Given the description of an element on the screen output the (x, y) to click on. 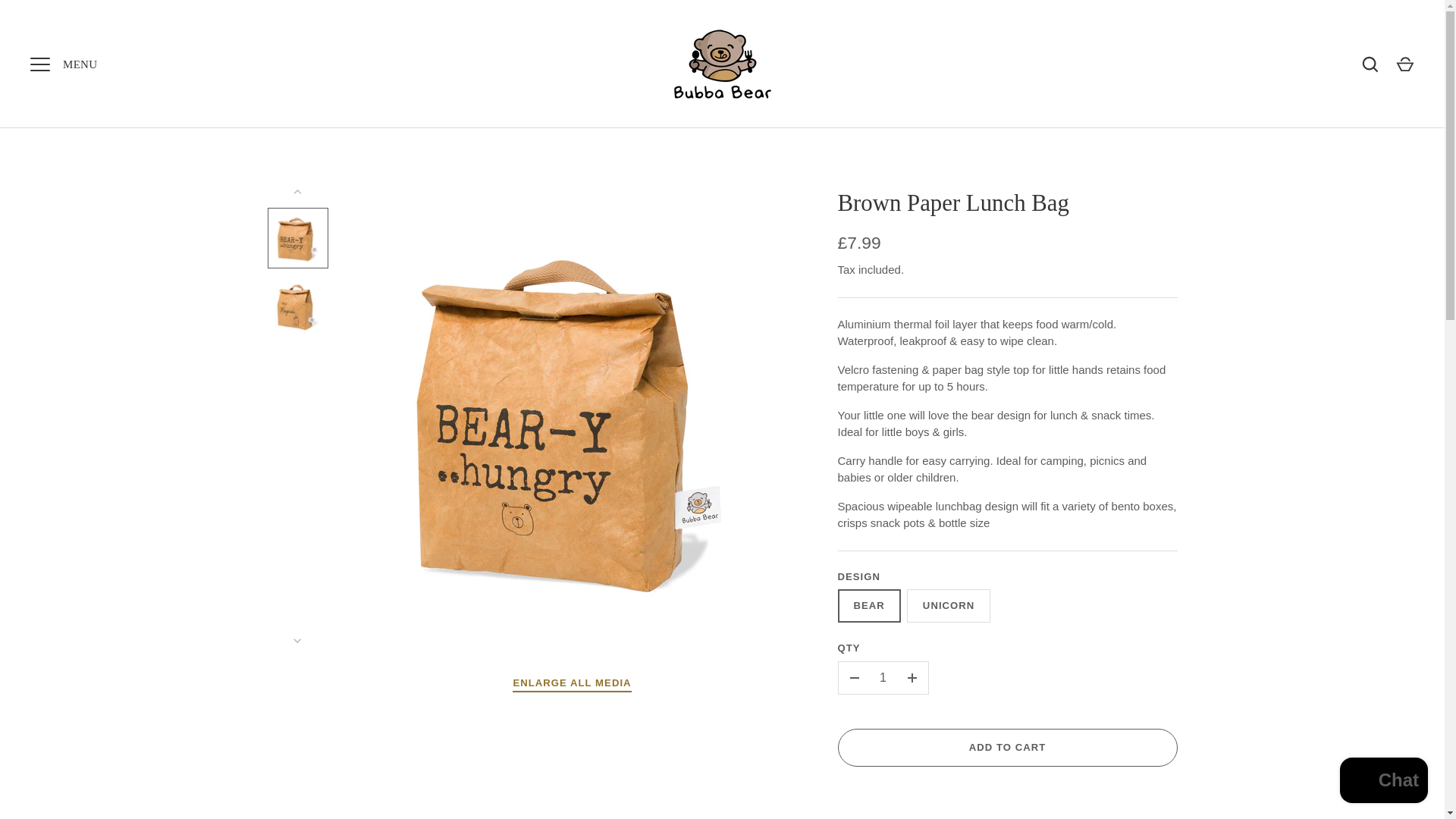
ADD TO CART (1006, 747)
- (854, 677)
1 (883, 677)
ENLARGE ALL MEDIA (571, 683)
MENU (39, 63)
Shopify online store chat (1383, 781)
